Given the description of an element on the screen output the (x, y) to click on. 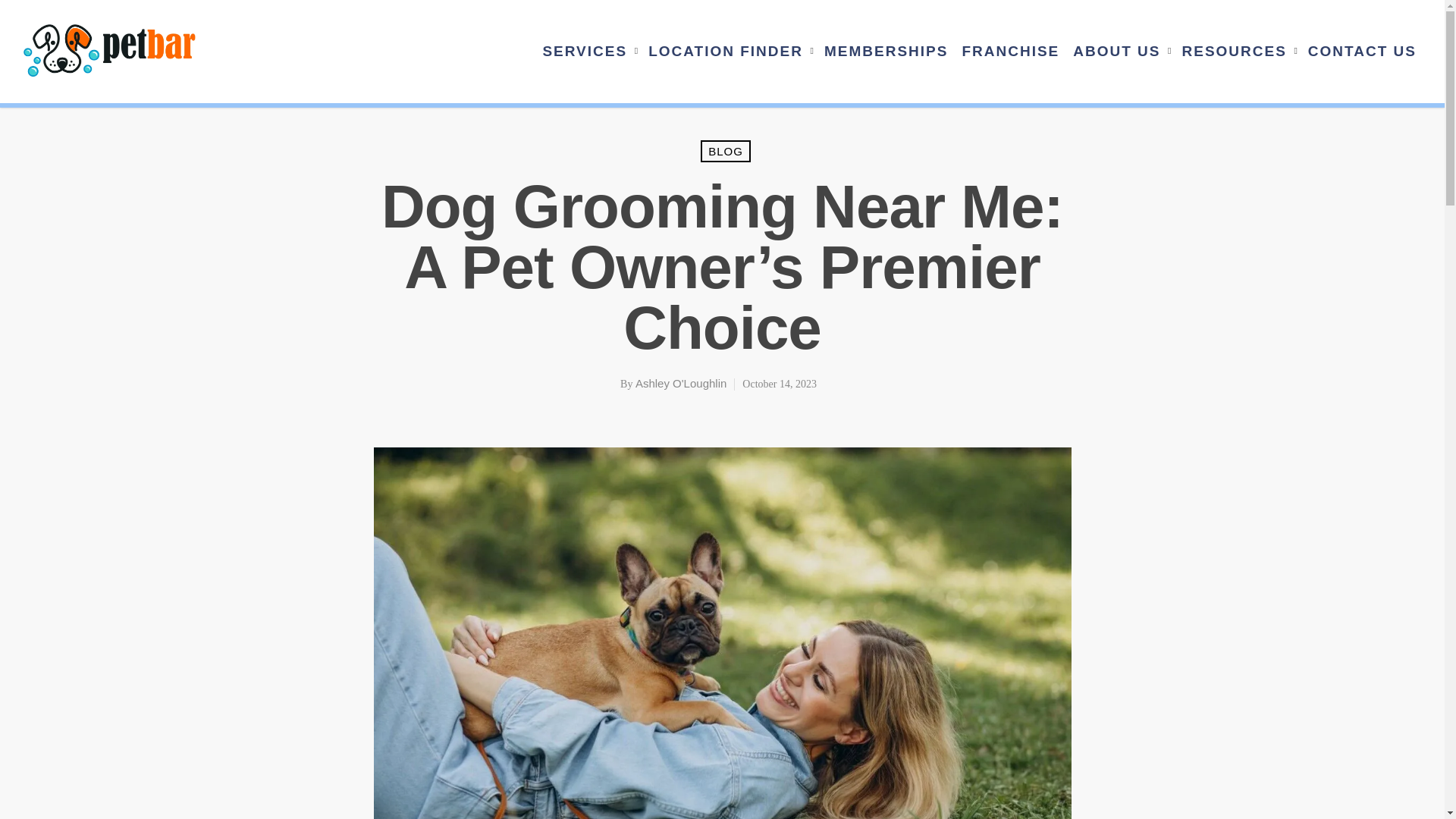
Posts by Ashley O'Loughlin (680, 382)
Ashley O'Loughlin (680, 382)
BLOG (725, 151)
RESOURCES (1237, 62)
FRANCHISE (1010, 62)
CONTACT US (1361, 62)
ABOUT US (1120, 62)
MEMBERSHIPS (885, 62)
SERVICES (587, 62)
LOCATION FINDER (729, 62)
